Given the description of an element on the screen output the (x, y) to click on. 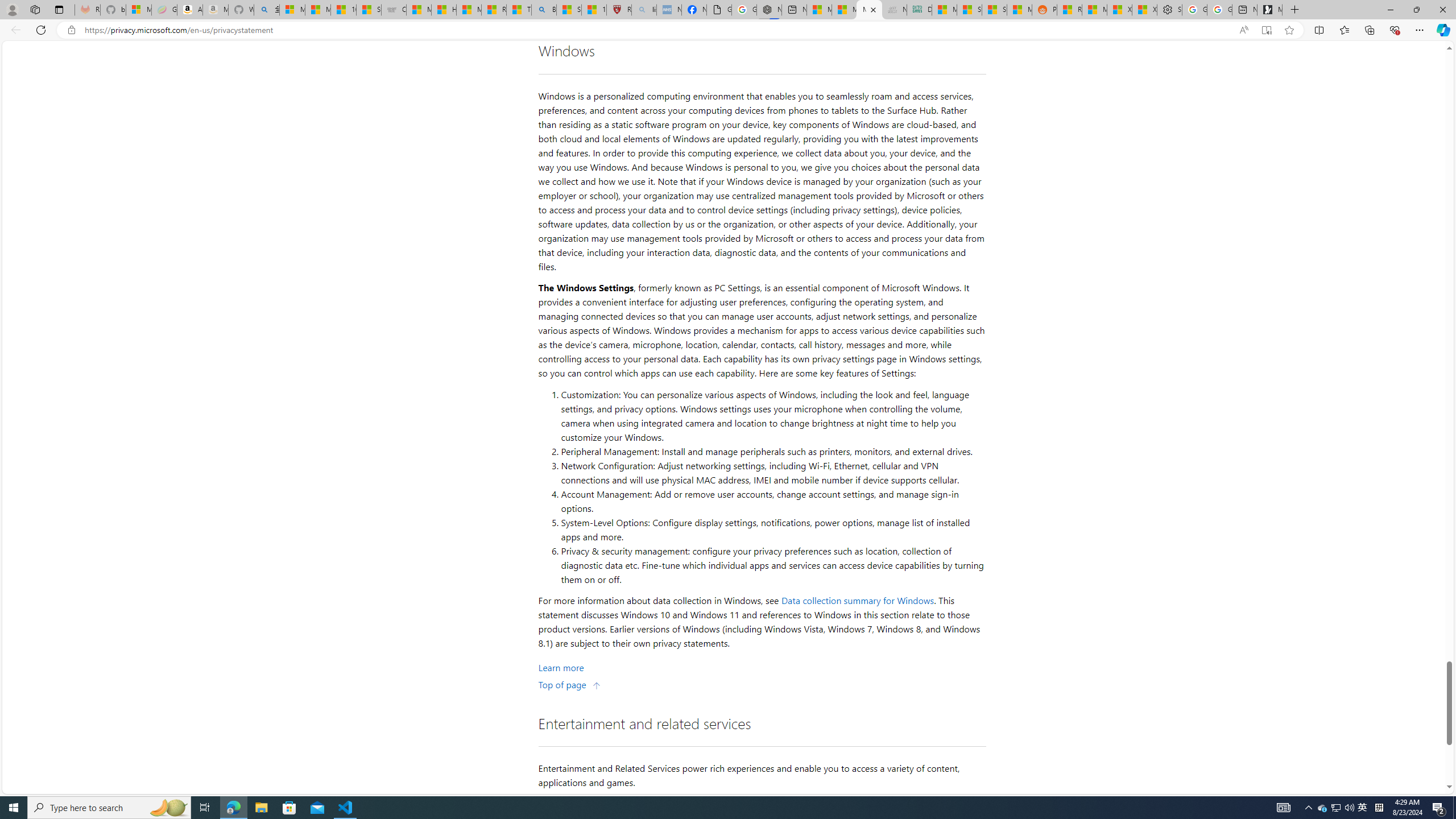
Nordace - Nordace Siena Is Not An Ordinary Backpack (768, 9)
12 Popular Science Lies that Must be Corrected (593, 9)
NCL Adult Asthma Inhaler Choice Guideline - Sleeping (668, 9)
Navy Quest (893, 9)
